Given the description of an element on the screen output the (x, y) to click on. 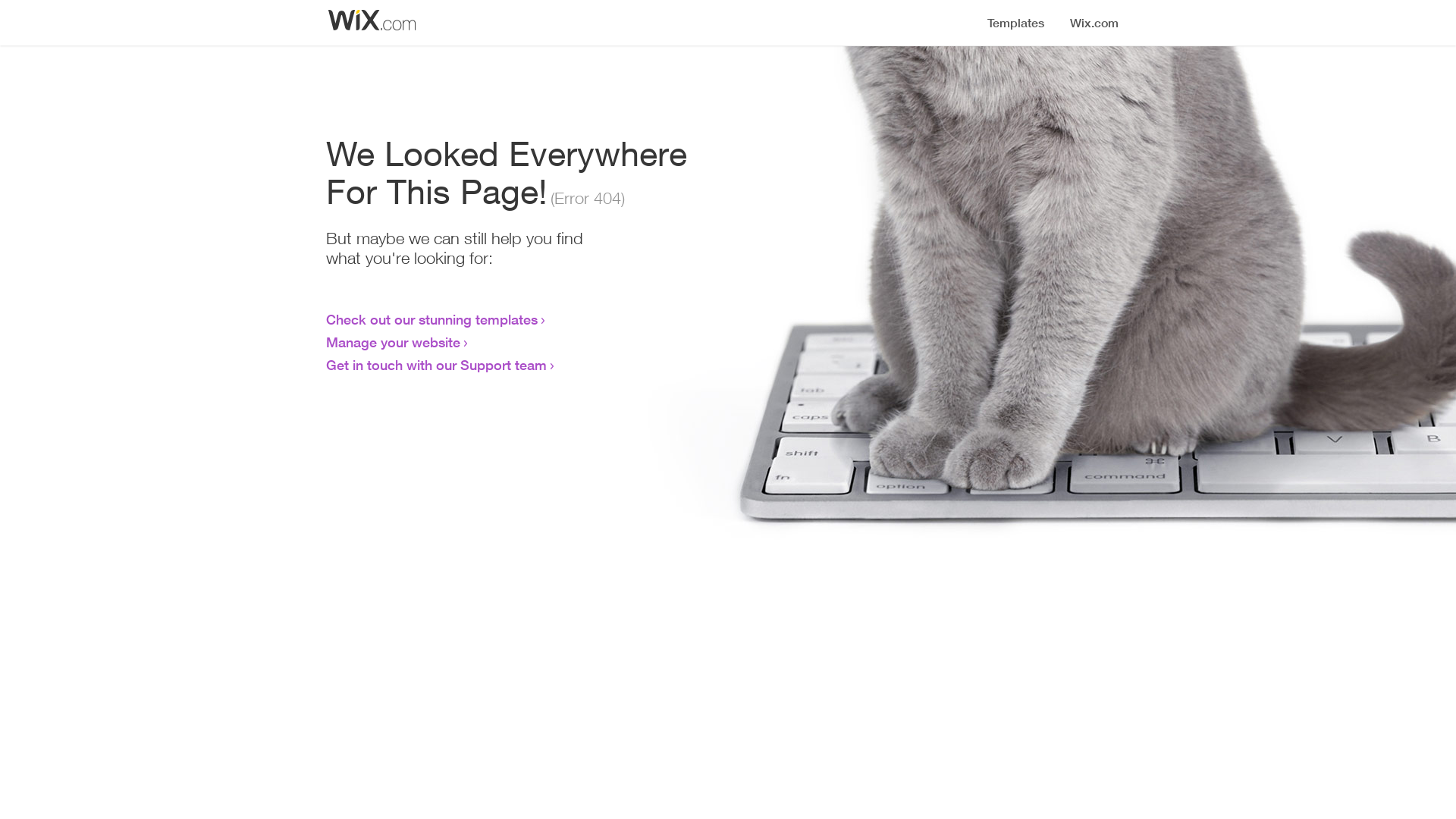
Get in touch with our Support team Element type: text (436, 364)
Check out our stunning templates Element type: text (431, 318)
Manage your website Element type: text (393, 341)
